Given the description of an element on the screen output the (x, y) to click on. 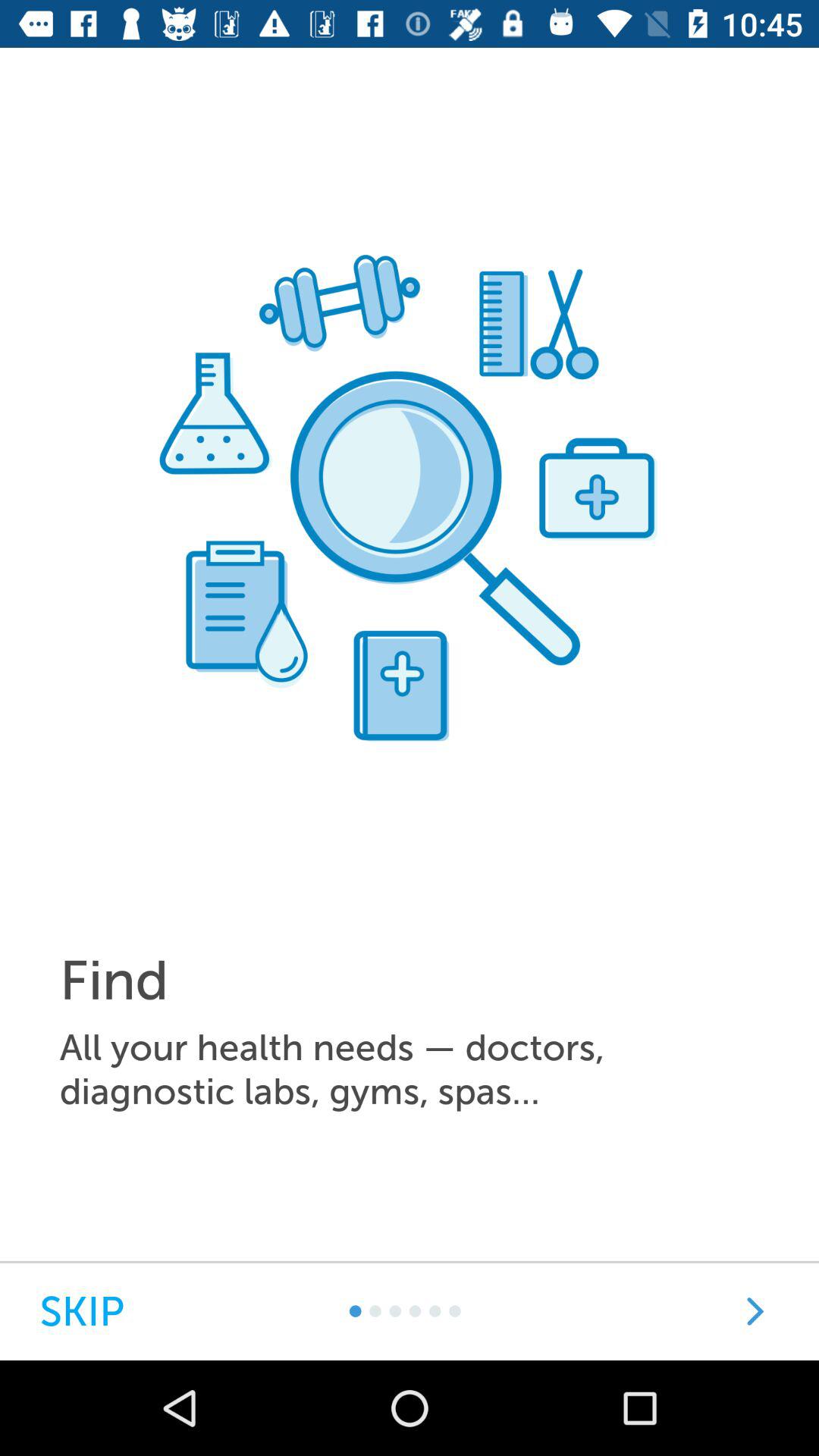
tap item at the bottom left corner (81, 1311)
